Given the description of an element on the screen output the (x, y) to click on. 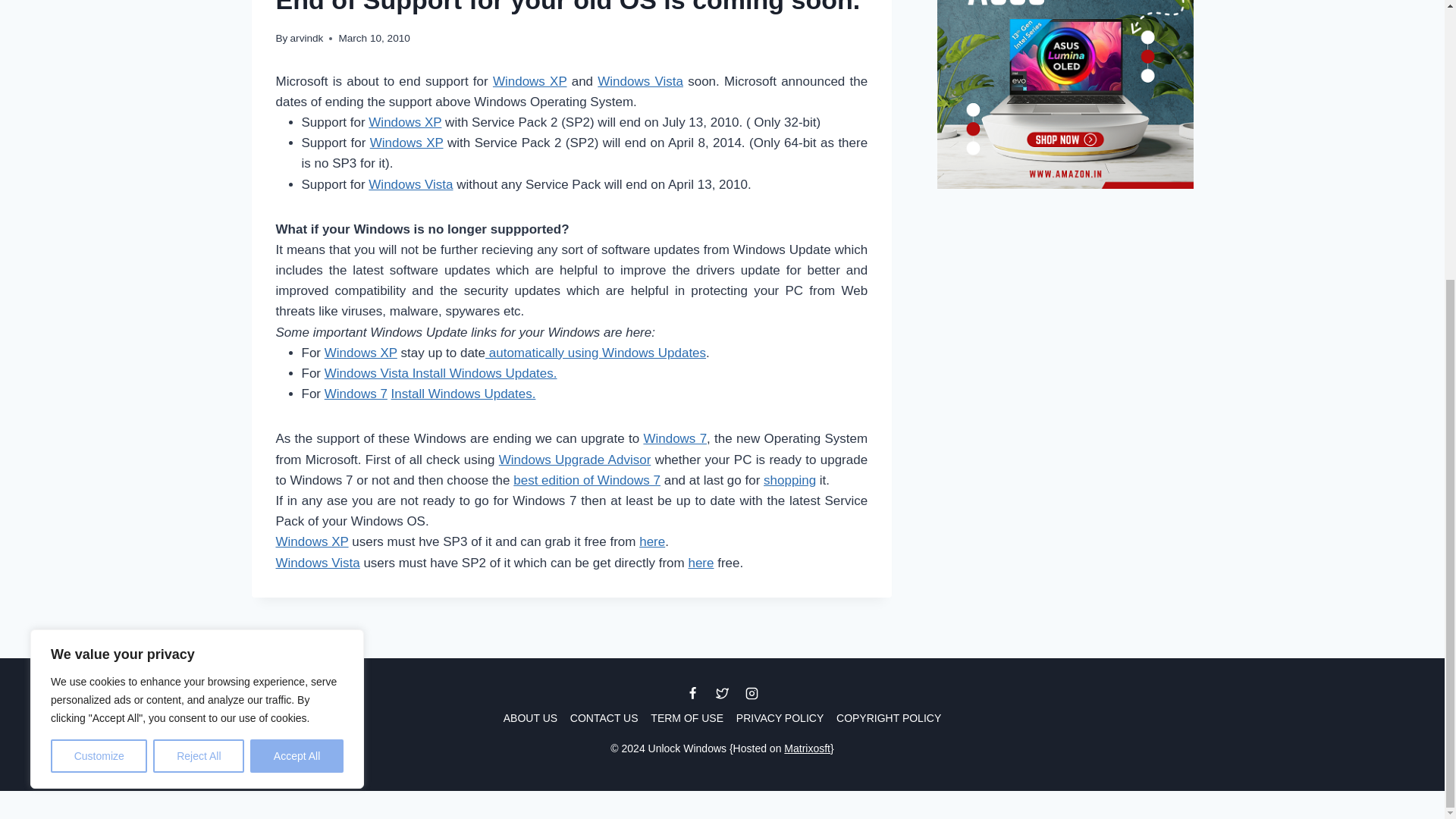
Windows Vista (410, 183)
Windows XP (530, 81)
Windows Vista (639, 81)
automatically using Windows Updates (595, 352)
Windows XP (404, 122)
Windows 7 (674, 438)
ASP.NET CORE Tutorial For Beginners 1 - Getting Started (1065, 310)
Windows 7 (355, 393)
Reject All (198, 339)
Accept All (296, 339)
Windows Vista Install Windows Updates. (440, 373)
Windows Upgrade Advisor (574, 459)
Install Windows Updates. (463, 393)
Windows XP (406, 142)
Windows XP (360, 352)
